Given the description of an element on the screen output the (x, y) to click on. 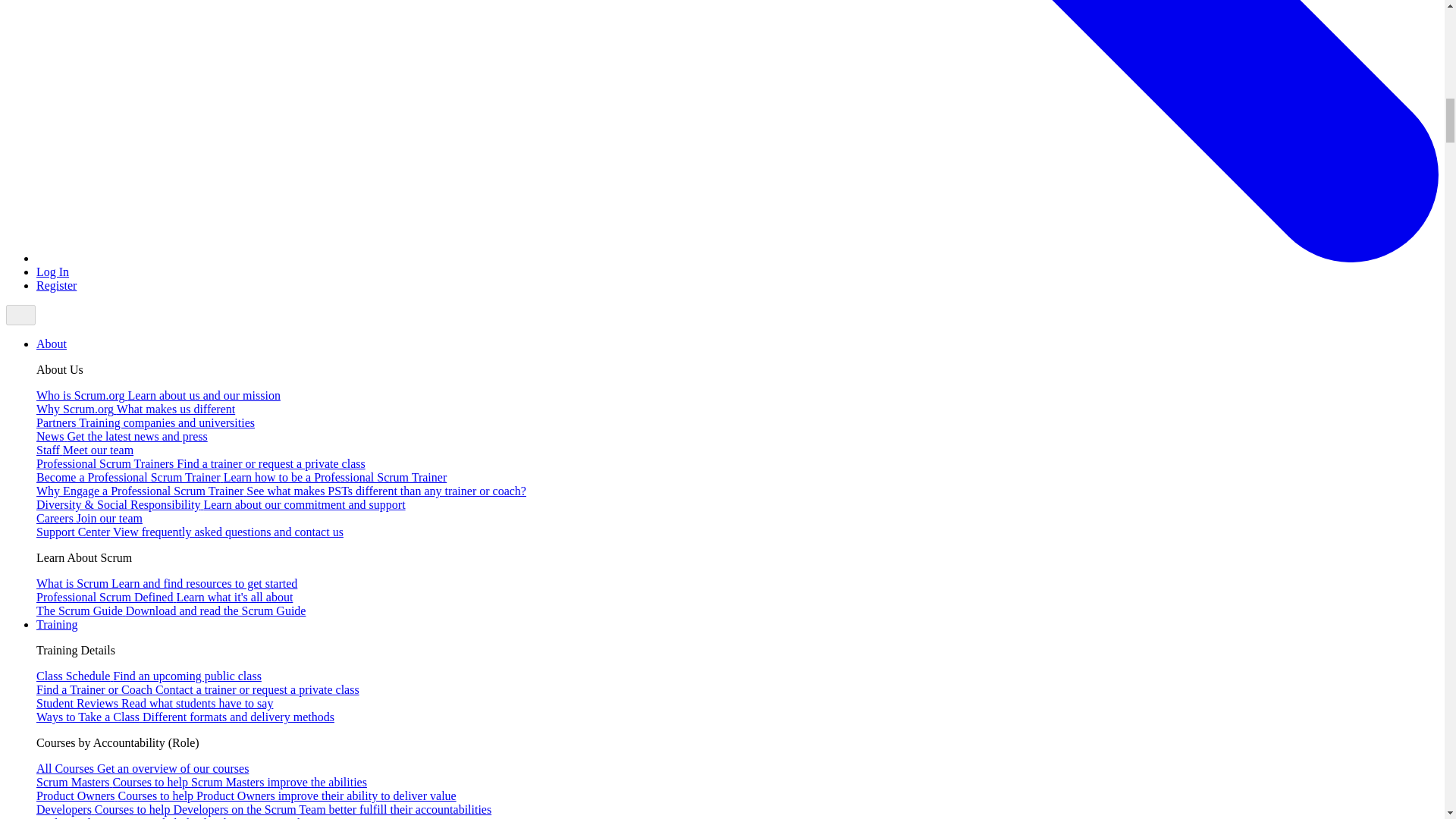
All Courses Get an overview of our courses (142, 768)
Who is Scrum.org Learn about us and our mission (158, 395)
Careers Join our team (89, 517)
Register (56, 285)
The Scrum Guide Download and read the Scrum Guide (170, 610)
Ways to Take a Class Different formats and delivery methods (185, 716)
Log In (52, 271)
Partners Training companies and universities (145, 422)
News Get the latest news and press (122, 436)
